Given the description of an element on the screen output the (x, y) to click on. 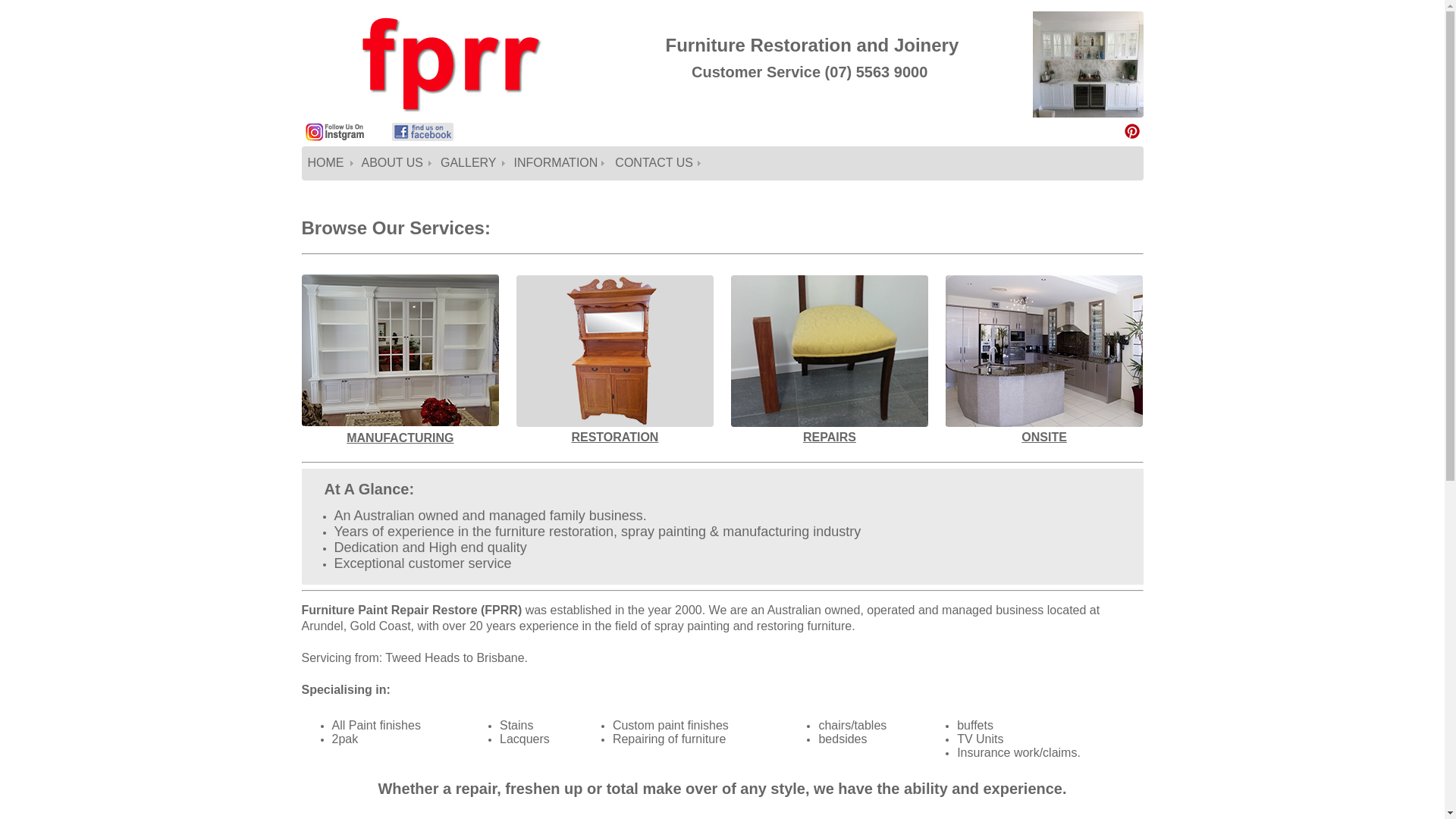
ONSITE Element type: text (1043, 437)
My Facebook Page Element type: hover (421, 138)
Instagram Element type: hover (335, 138)
REPAIRS Element type: text (829, 437)
CONTACT US Element type: text (656, 162)
HOME Element type: text (328, 162)
GALLERY Element type: text (471, 162)
MANUFACTURING Element type: text (399, 432)
INFORMATION Element type: text (558, 162)
ABOUT US Element type: text (394, 162)
My Pinterest Page Element type: hover (1131, 130)
RESTORATION Element type: text (614, 437)
